Given the description of an element on the screen output the (x, y) to click on. 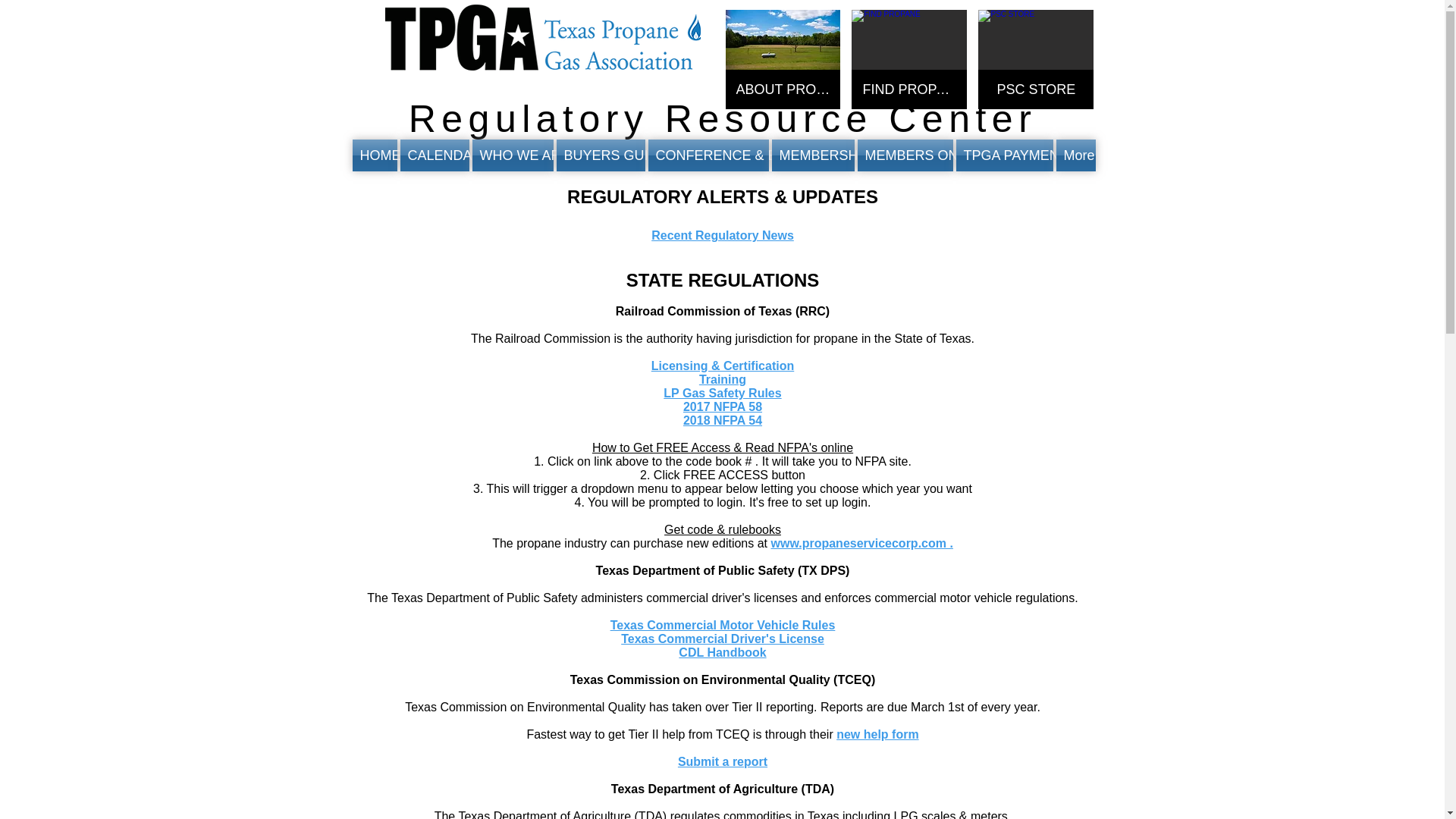
Texas Commercial Driver's License (722, 638)
Submit a report (722, 761)
HOME (374, 155)
Texas Commercial Motor Vehicle Rules (722, 625)
Training (721, 379)
www.propaneservicecorp.com . (861, 543)
ABOUT PROPANE (782, 58)
LP Gas Safety Rules (721, 392)
new help form (876, 734)
Recent Regulatory News (721, 235)
